Given the description of an element on the screen output the (x, y) to click on. 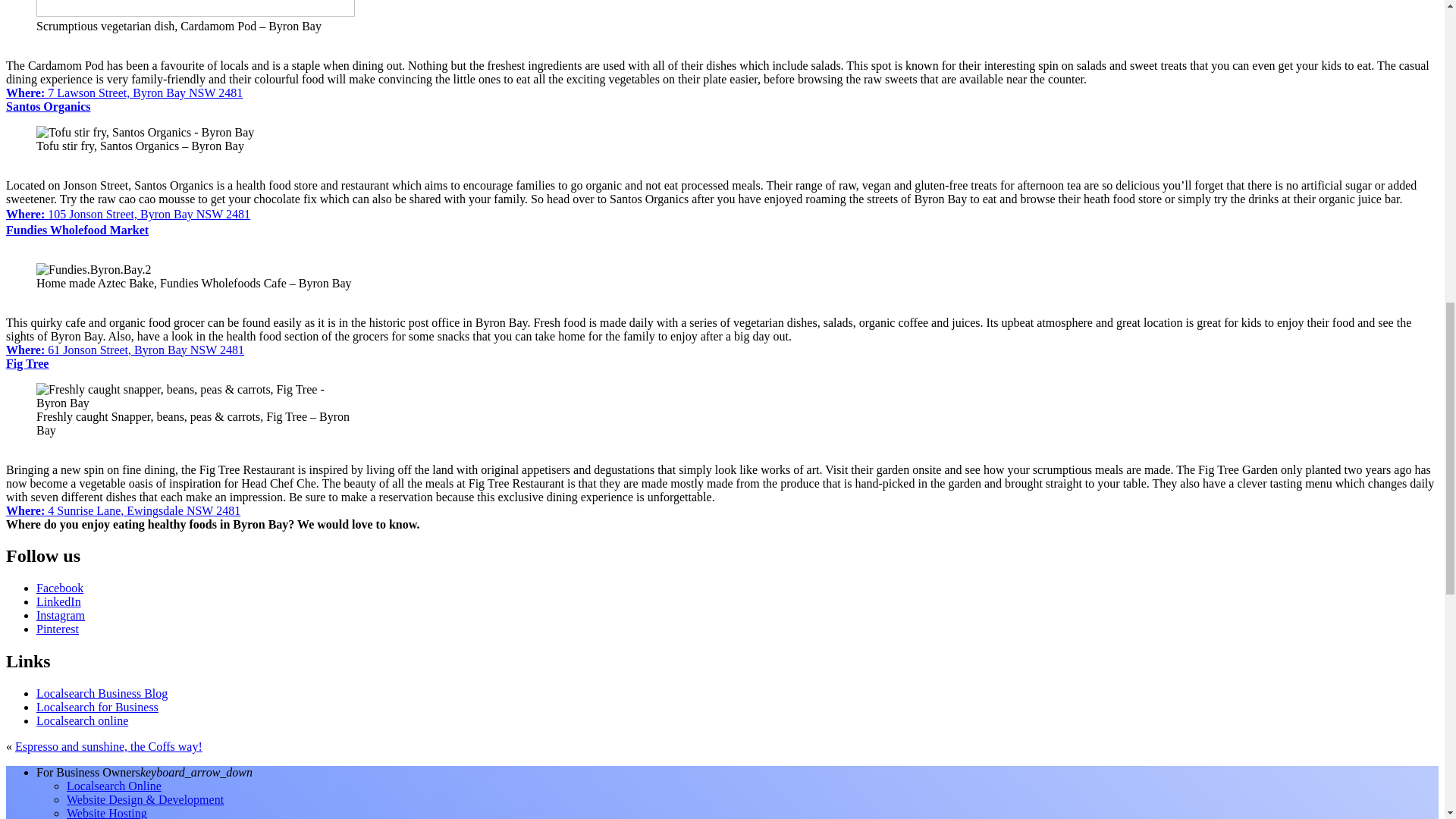
Where: 4 Sunrise Lane, Ewingsdale NSW 2481 (122, 510)
Pinterest (57, 628)
LinkedIn (58, 601)
Fundies Wholefood Market (76, 229)
Santos Organics (47, 106)
Localsearch Business Blog (101, 693)
Espresso and sunshine, the Coffs way! (108, 746)
Facebook (59, 587)
Instagram (60, 615)
Where: 7 Lawson Street, Byron Bay NSW 2481 (124, 92)
